Given the description of an element on the screen output the (x, y) to click on. 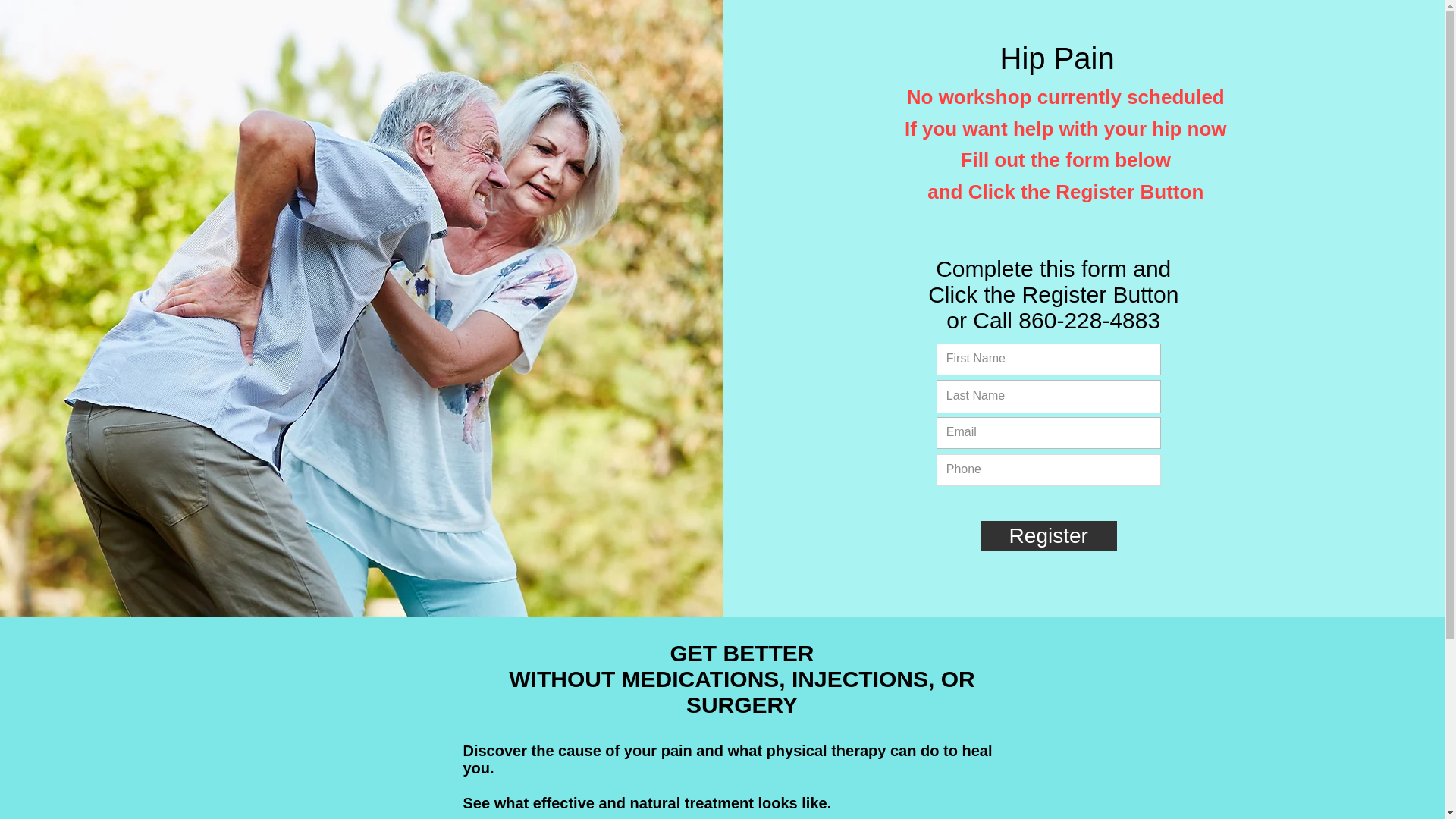
Register (1047, 535)
